Given the description of an element on the screen output the (x, y) to click on. 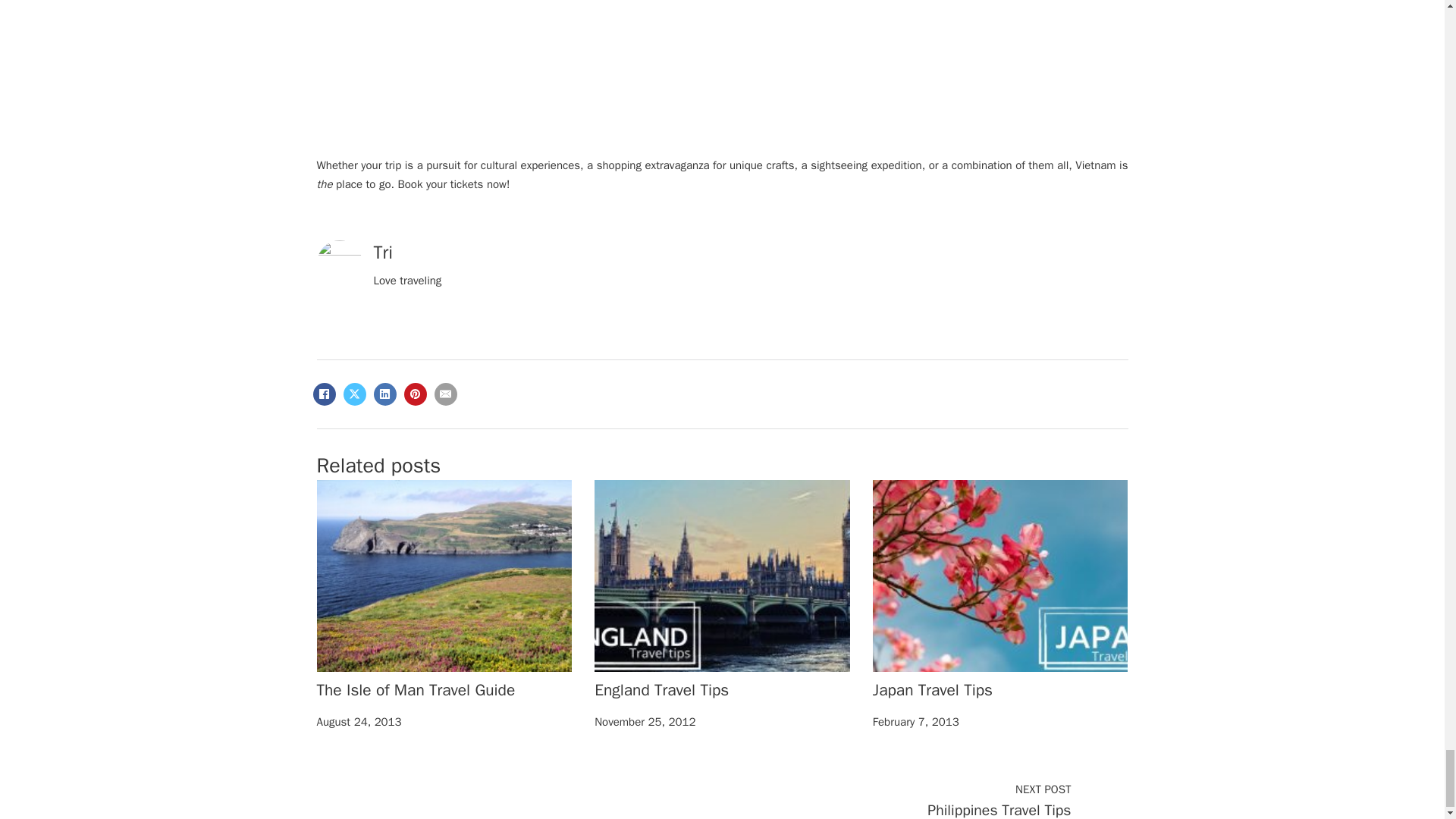
England Travel Tips (661, 690)
The Isle of Man Travel Guide (416, 690)
Japan Travel Tips (932, 690)
